Given the description of an element on the screen output the (x, y) to click on. 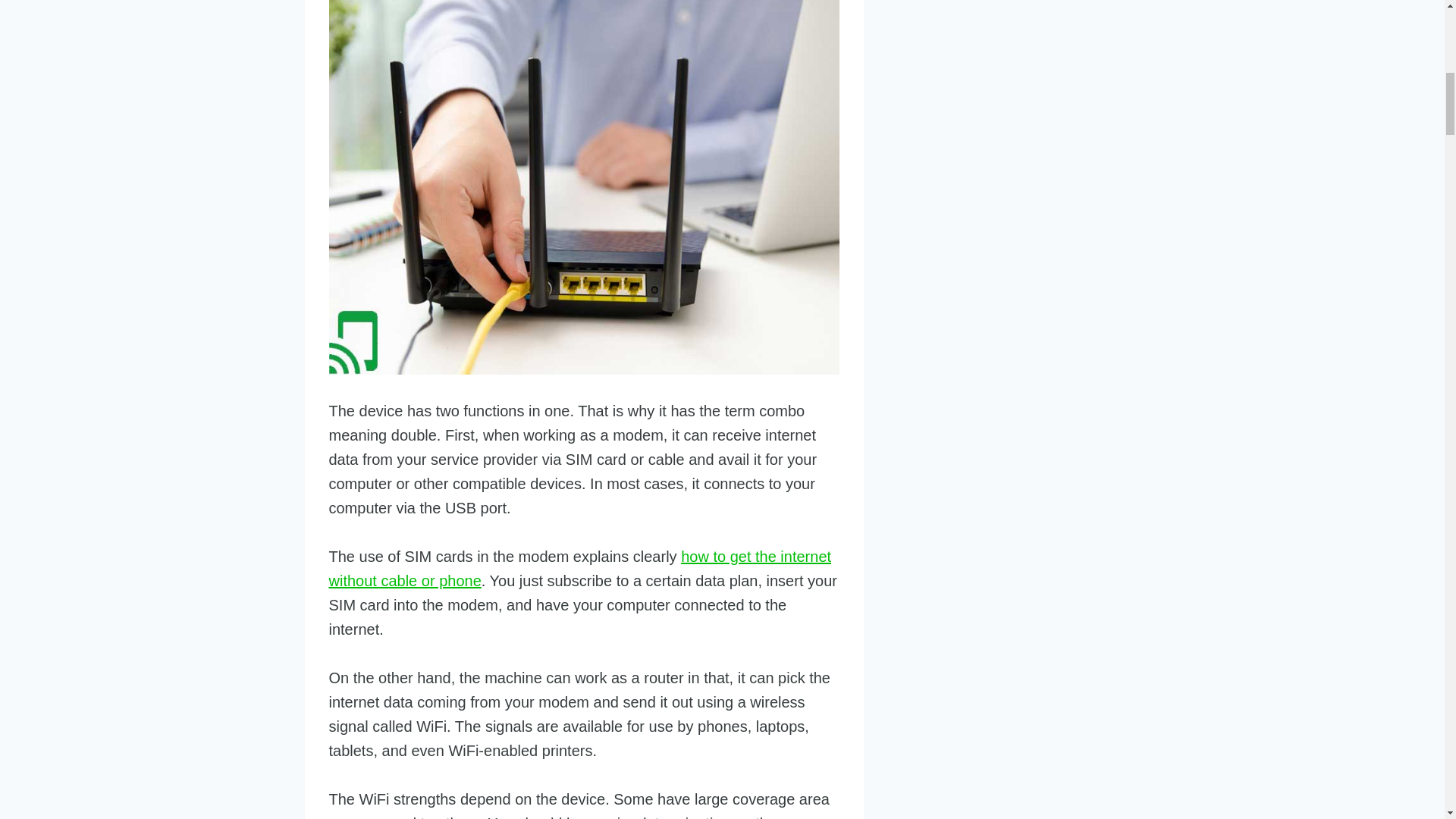
how to get the internet without cable or phone (580, 567)
